Given the description of an element on the screen output the (x, y) to click on. 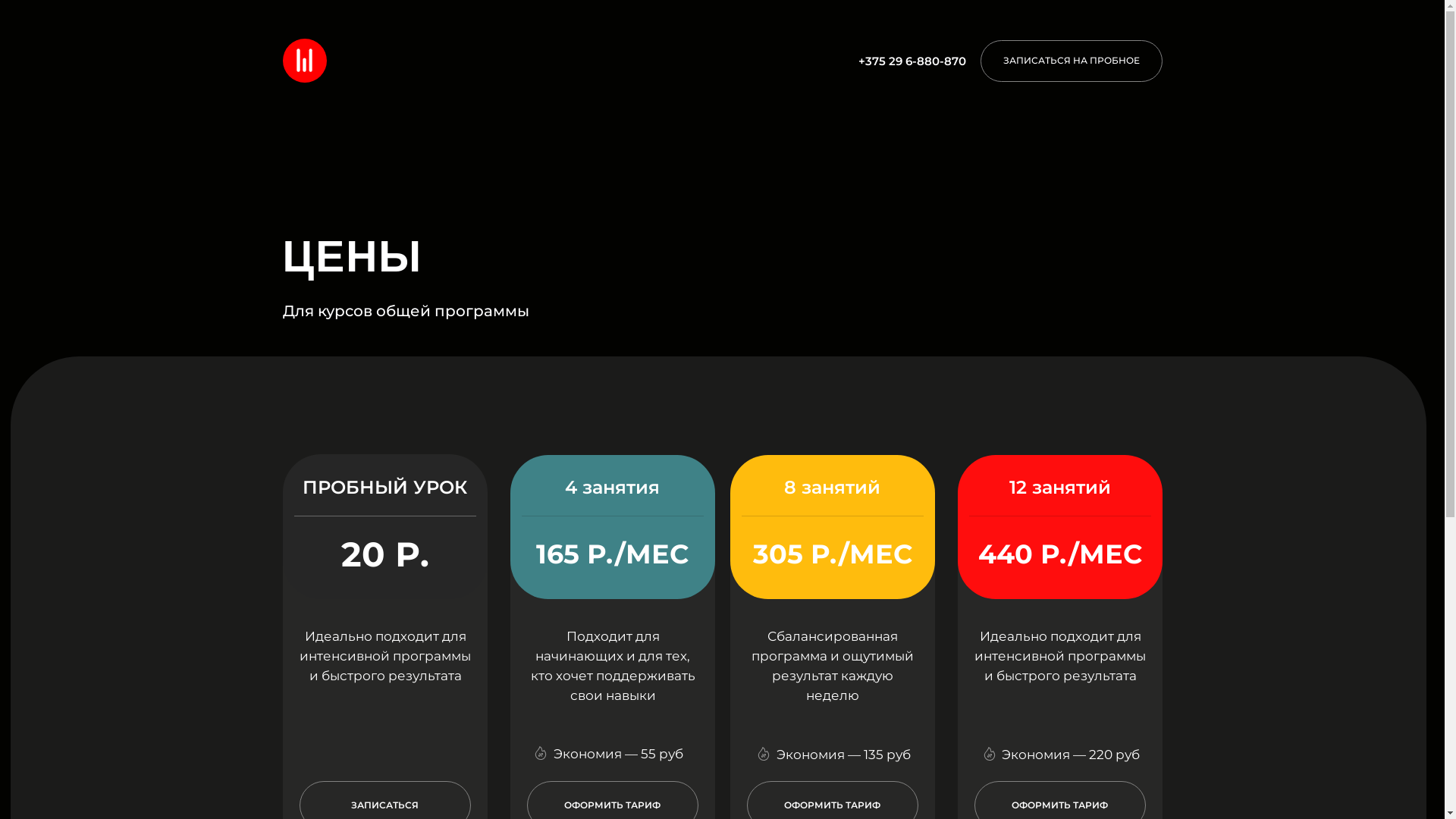
+375 29 6-880-870 Element type: text (912, 60)
